Given the description of an element on the screen output the (x, y) to click on. 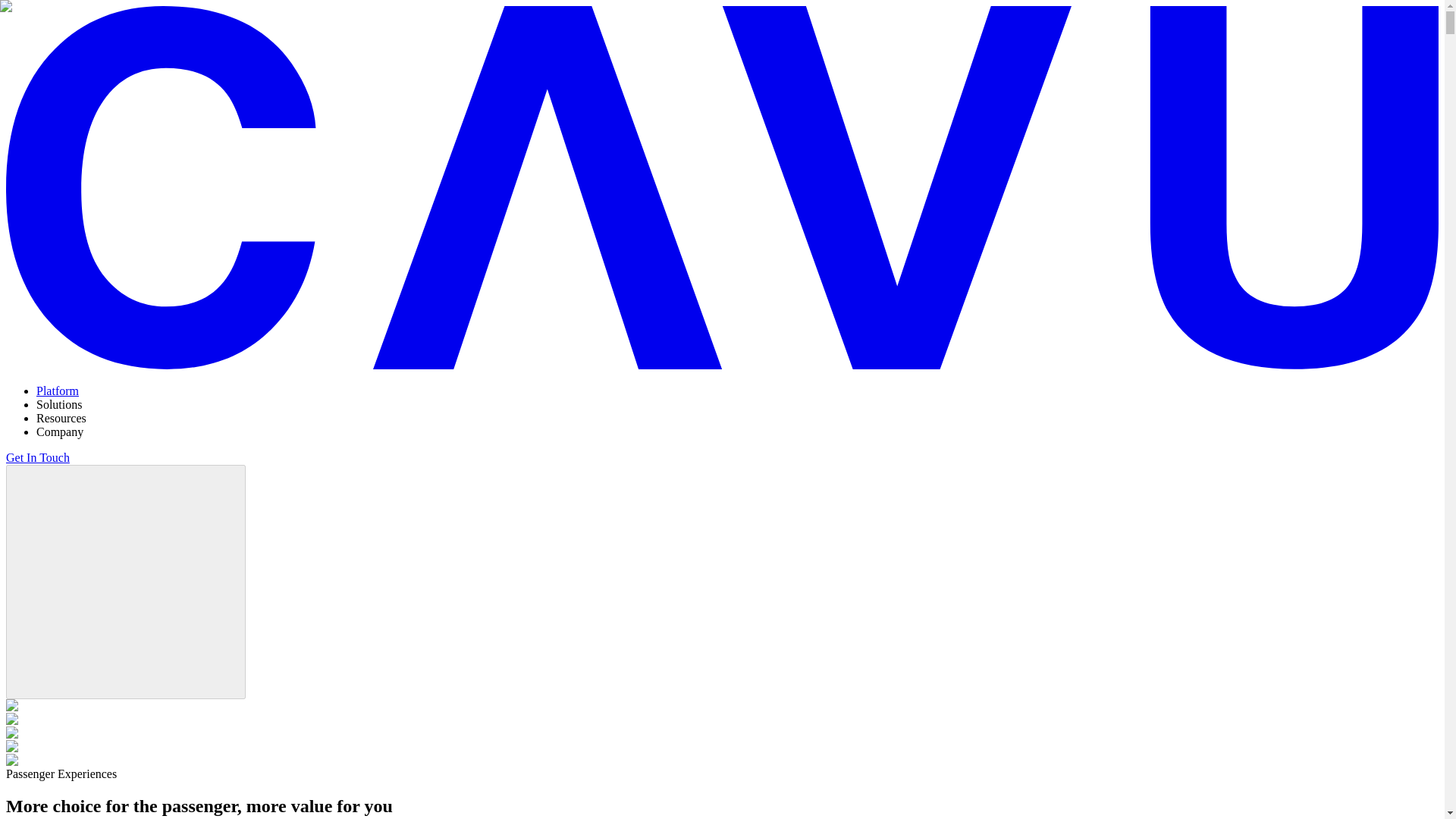
Platform (57, 390)
